Given the description of an element on the screen output the (x, y) to click on. 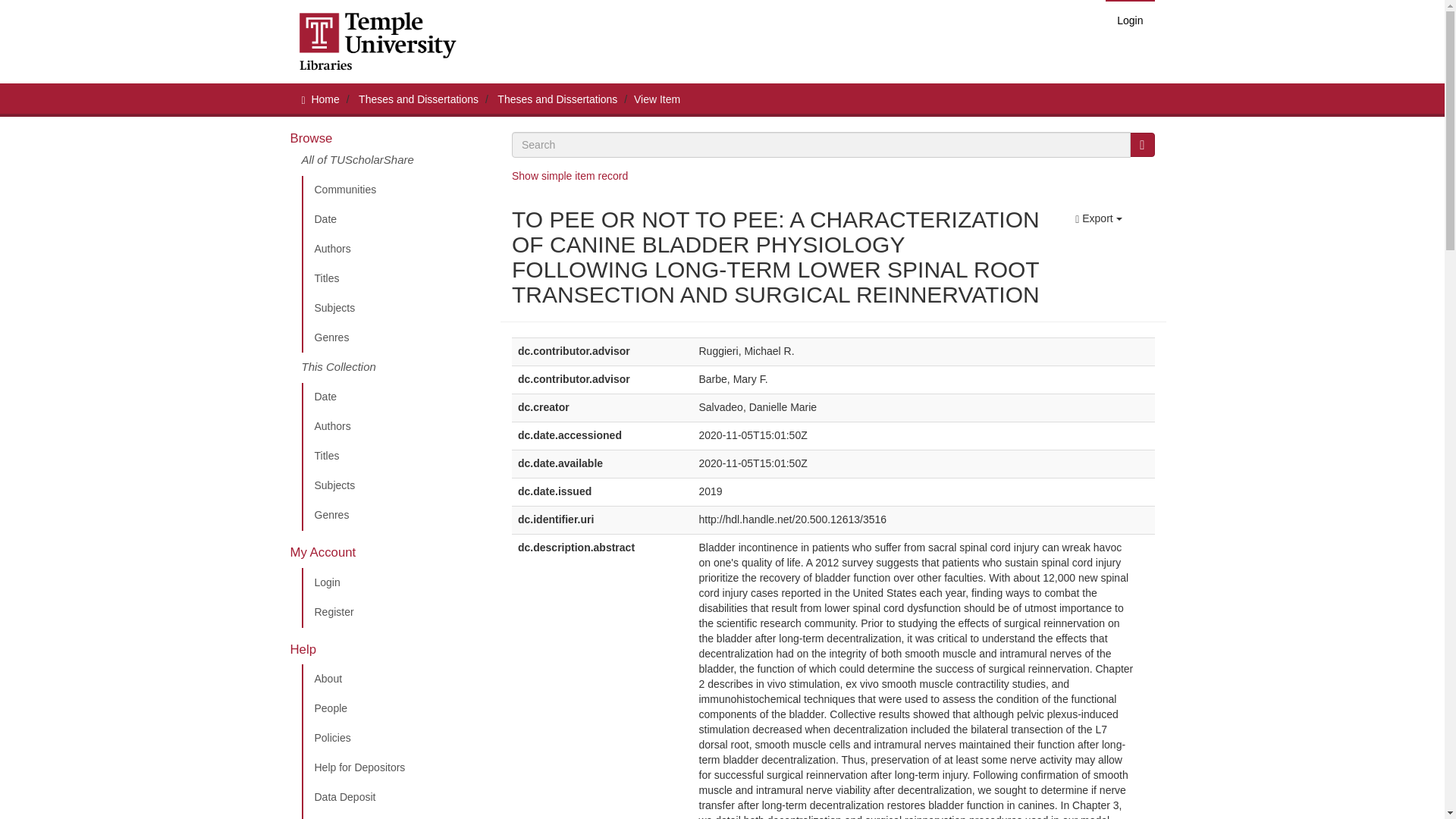
Go (1141, 144)
Register (395, 612)
Communities (395, 190)
People (395, 708)
Date (395, 397)
Theses and Dissertations (557, 99)
All of TUScholarShare (395, 164)
Authors (395, 249)
Titles (395, 278)
Policies (395, 738)
